Given the description of an element on the screen output the (x, y) to click on. 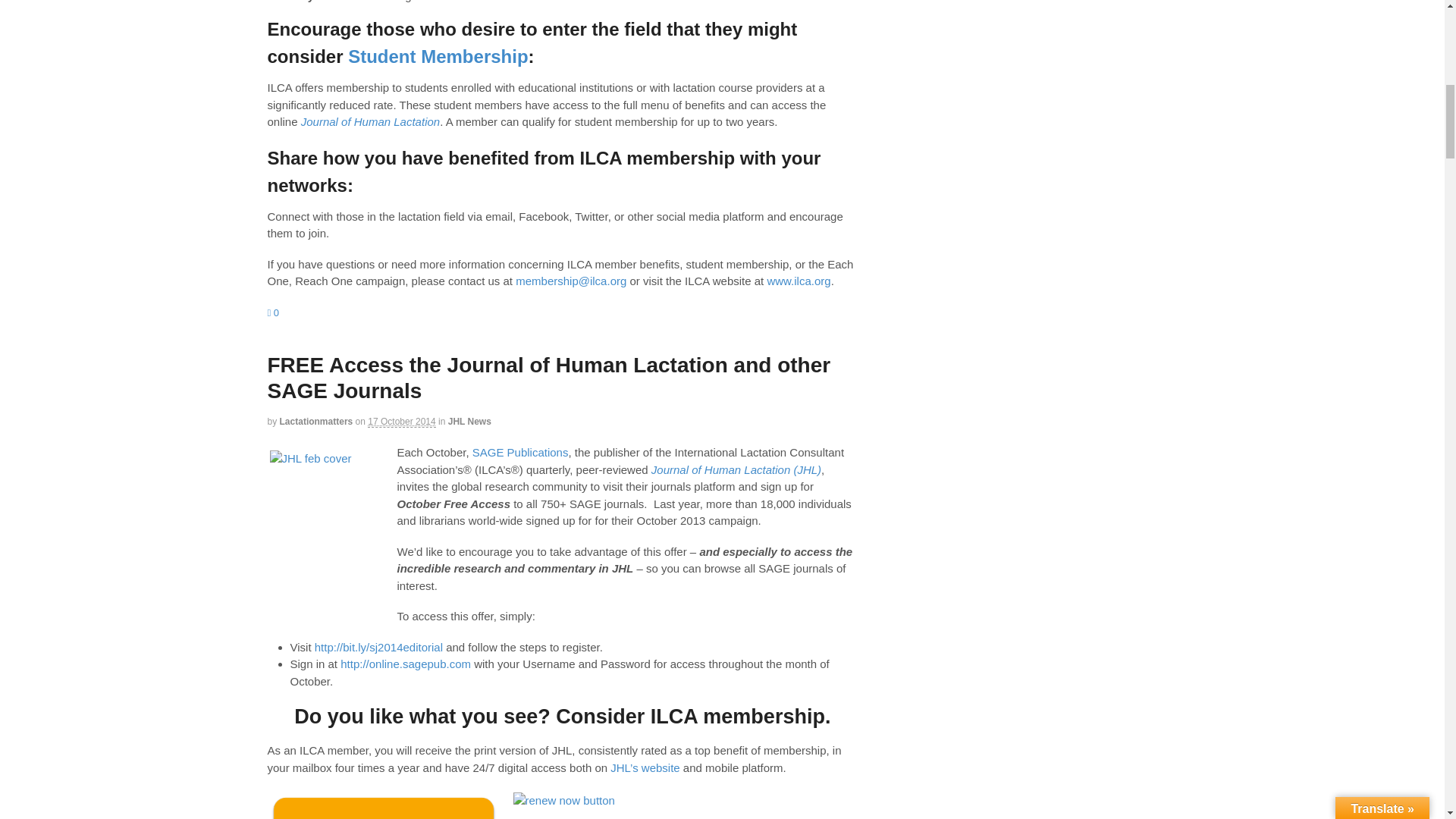
www.ilca.org (798, 280)
Journal of Human Lactation (370, 121)
Posts by lactationmatters (316, 421)
2014-10-17T10:20:56-0400 (401, 421)
Lactationmatters (316, 421)
JHL News (470, 421)
0 (272, 312)
View all items in JHL News (470, 421)
SAGE Publications (520, 451)
